Given the description of an element on the screen output the (x, y) to click on. 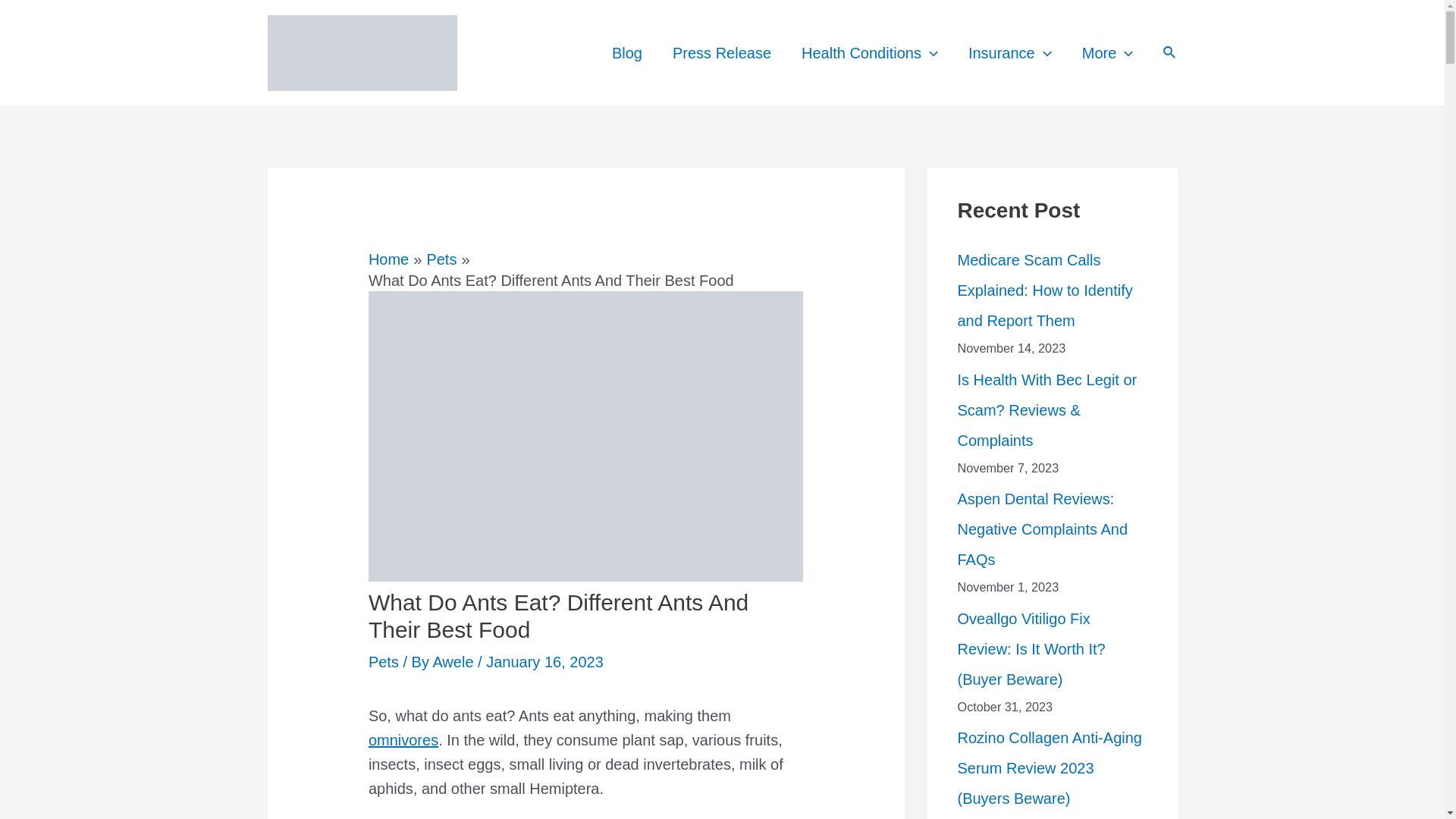
What Do Ants Eat? Different Ants And Their Best Food (585, 436)
Insurance (1010, 52)
View all posts by Awele (454, 661)
Health Conditions (869, 52)
Press Release (722, 52)
Blog (627, 52)
More (1107, 52)
